Given the description of an element on the screen output the (x, y) to click on. 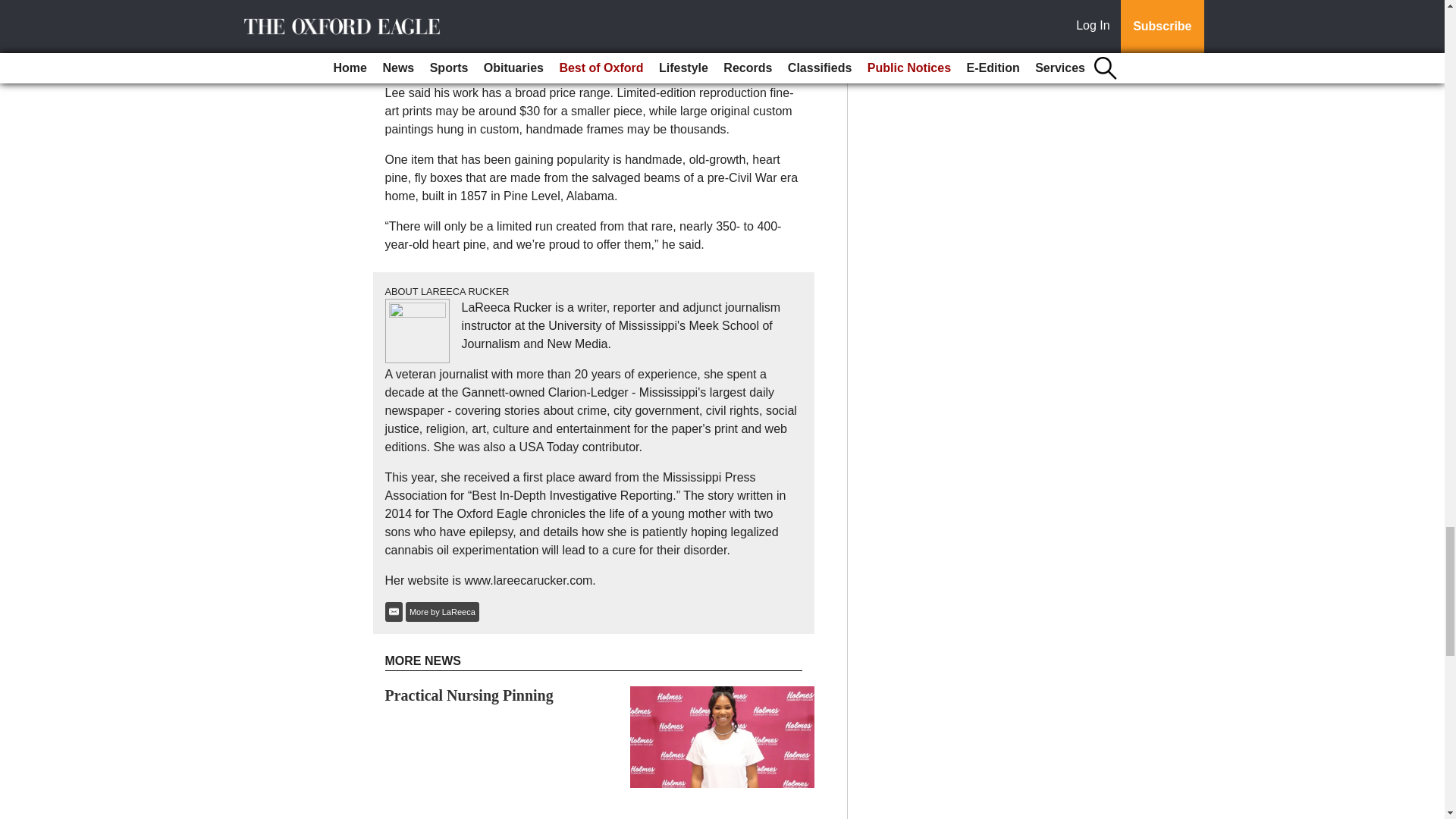
Practical Nursing Pinning (469, 695)
Practical Nursing Pinning (469, 695)
More by LaReeca (442, 611)
